Given the description of an element on the screen output the (x, y) to click on. 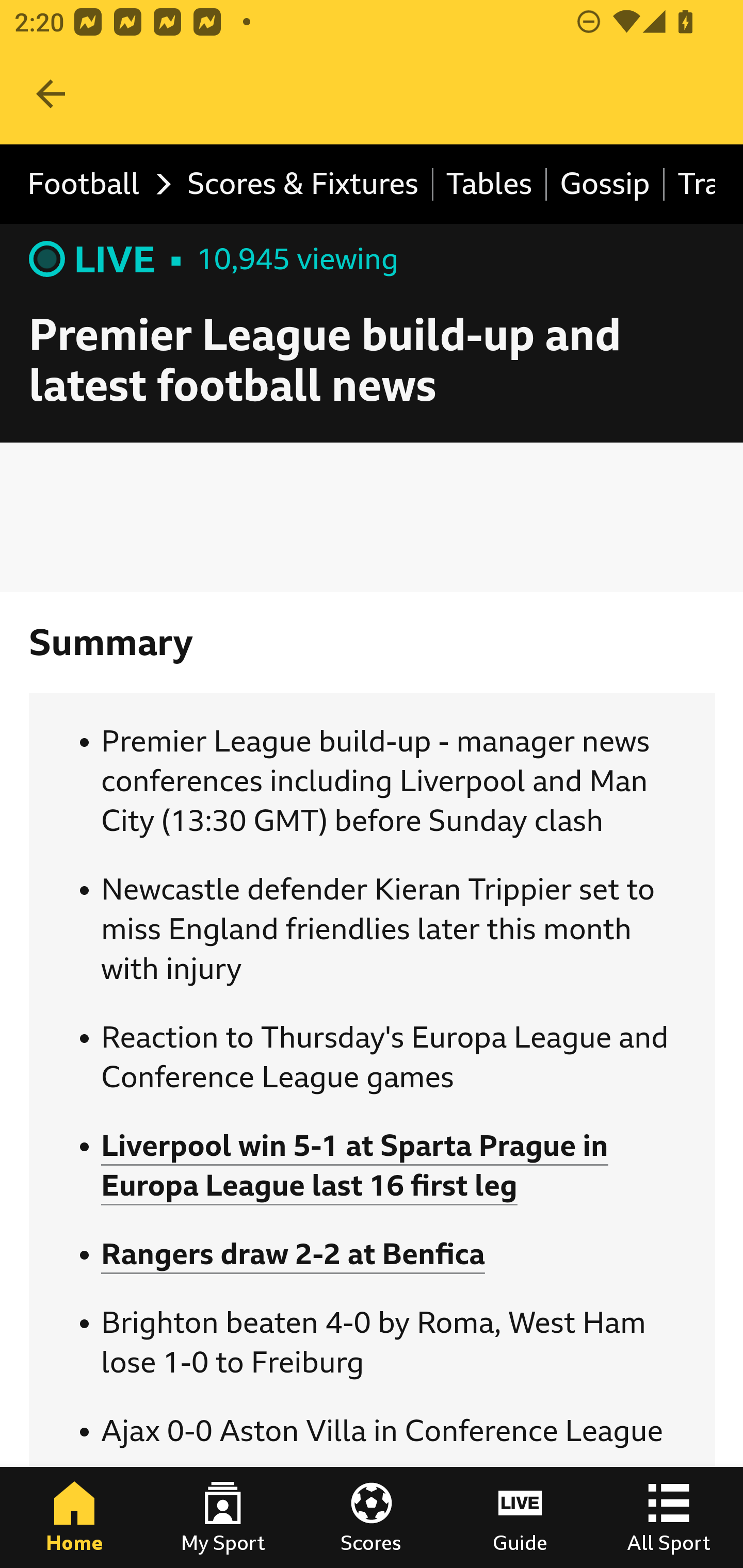
Navigate up (50, 93)
Football (94, 184)
Scores & Fixtures (303, 184)
Tables (490, 184)
Gossip (605, 184)
Rangers draw 2-2 at Benfica (293, 1254)
My Sport (222, 1517)
Scores (371, 1517)
Guide (519, 1517)
All Sport (668, 1517)
